Given the description of an element on the screen output the (x, y) to click on. 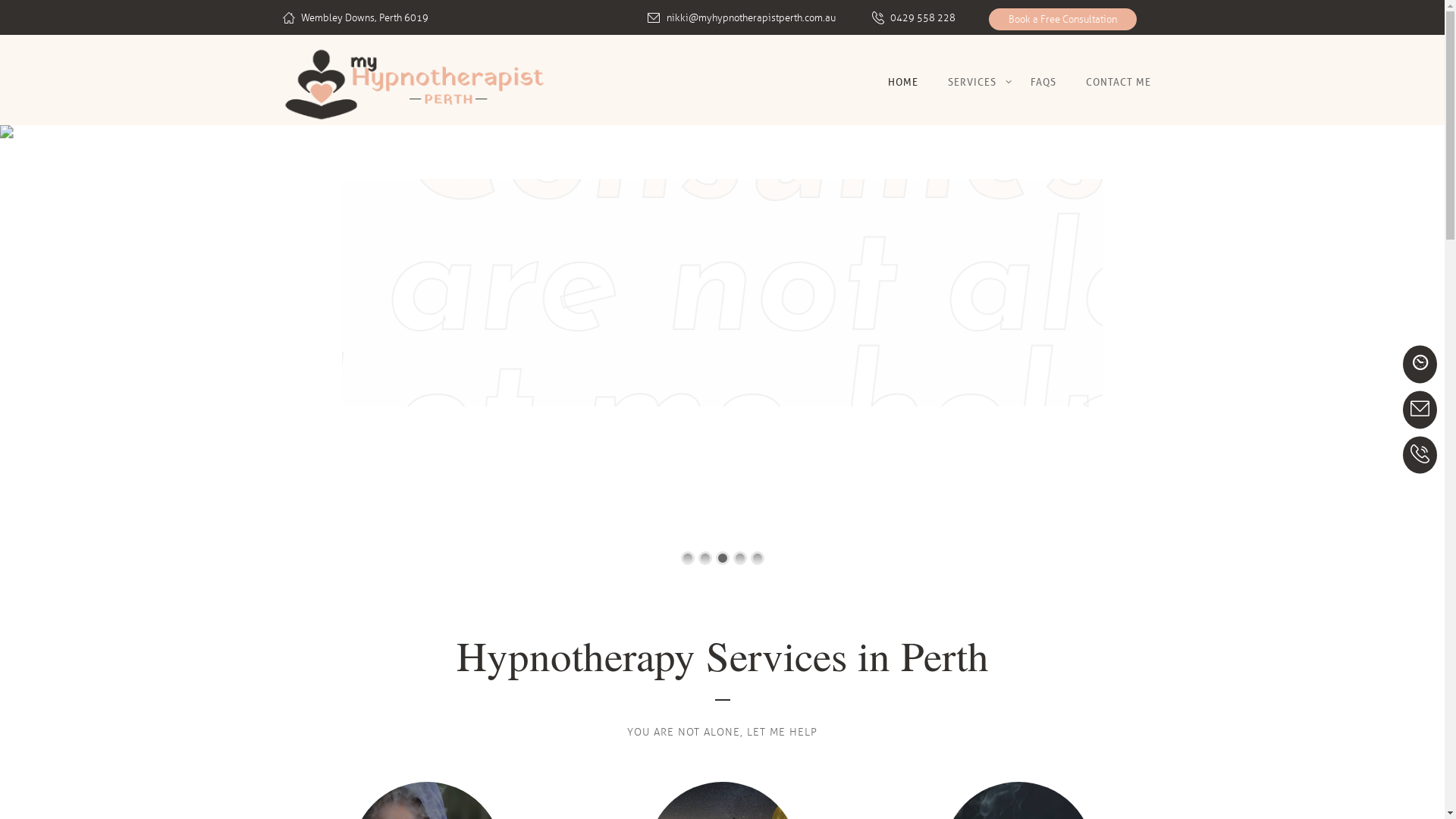
0429 558 228 Element type: text (922, 18)
CONTACT ME Element type: text (1118, 81)
Call Us Element type: hover (1419, 454)
SERVICES Element type: text (973, 81)
Book Now Element type: hover (1419, 363)
Email Us Element type: hover (1419, 409)
FAQS Element type: text (1043, 81)
nikki@myhypnotherapistperth.com.au Element type: text (750, 18)
HOME Element type: text (902, 81)
